Given the description of an element on the screen output the (x, y) to click on. 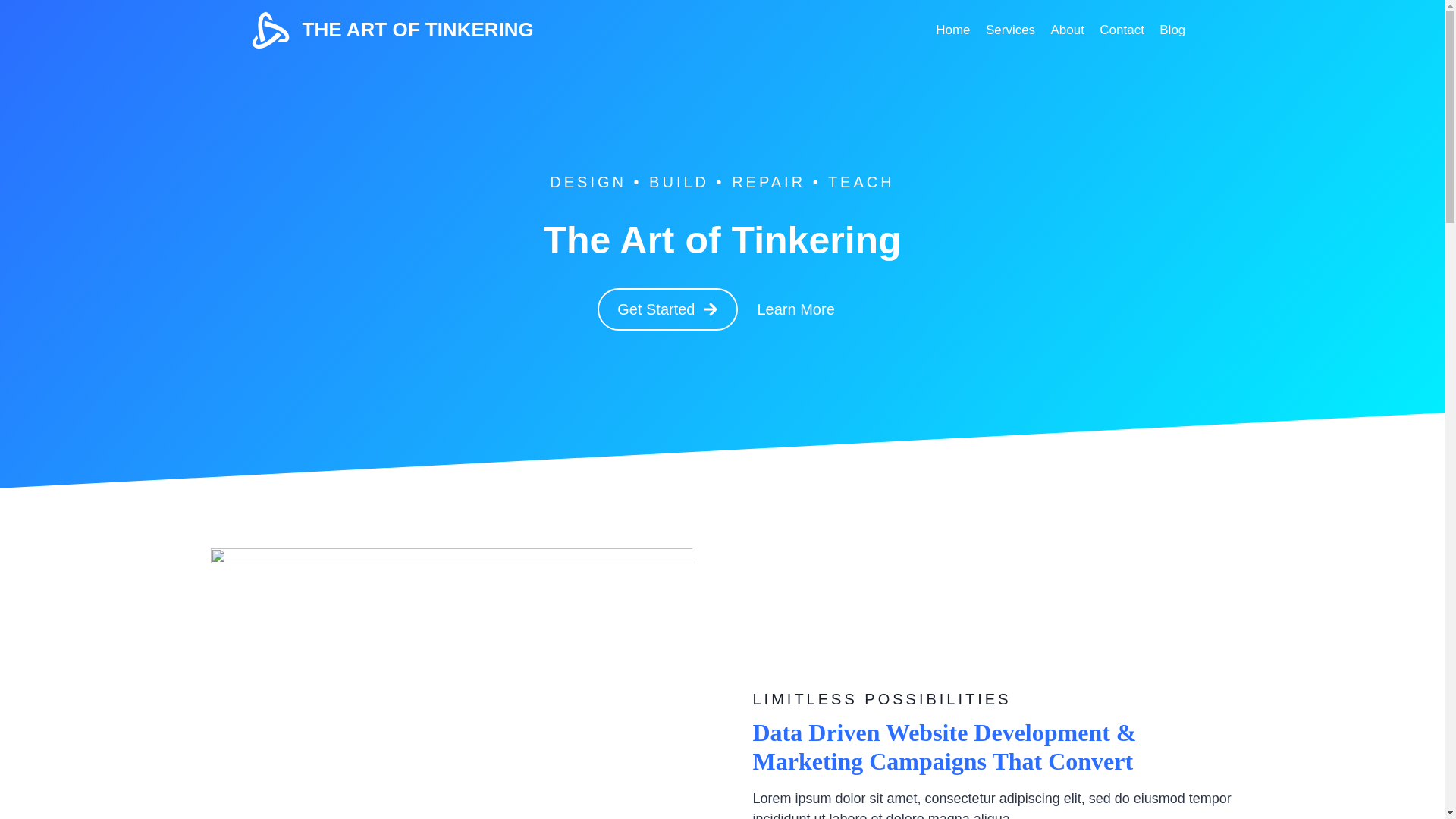
Home Element type: text (953, 30)
Get Started Element type: text (667, 309)
Contact Element type: text (1121, 30)
About Element type: text (1067, 30)
Services Element type: text (1010, 30)
Blog Element type: text (1171, 30)
THE ART OF TINKERING Element type: text (392, 30)
Learn More Element type: text (795, 309)
